Given the description of an element on the screen output the (x, y) to click on. 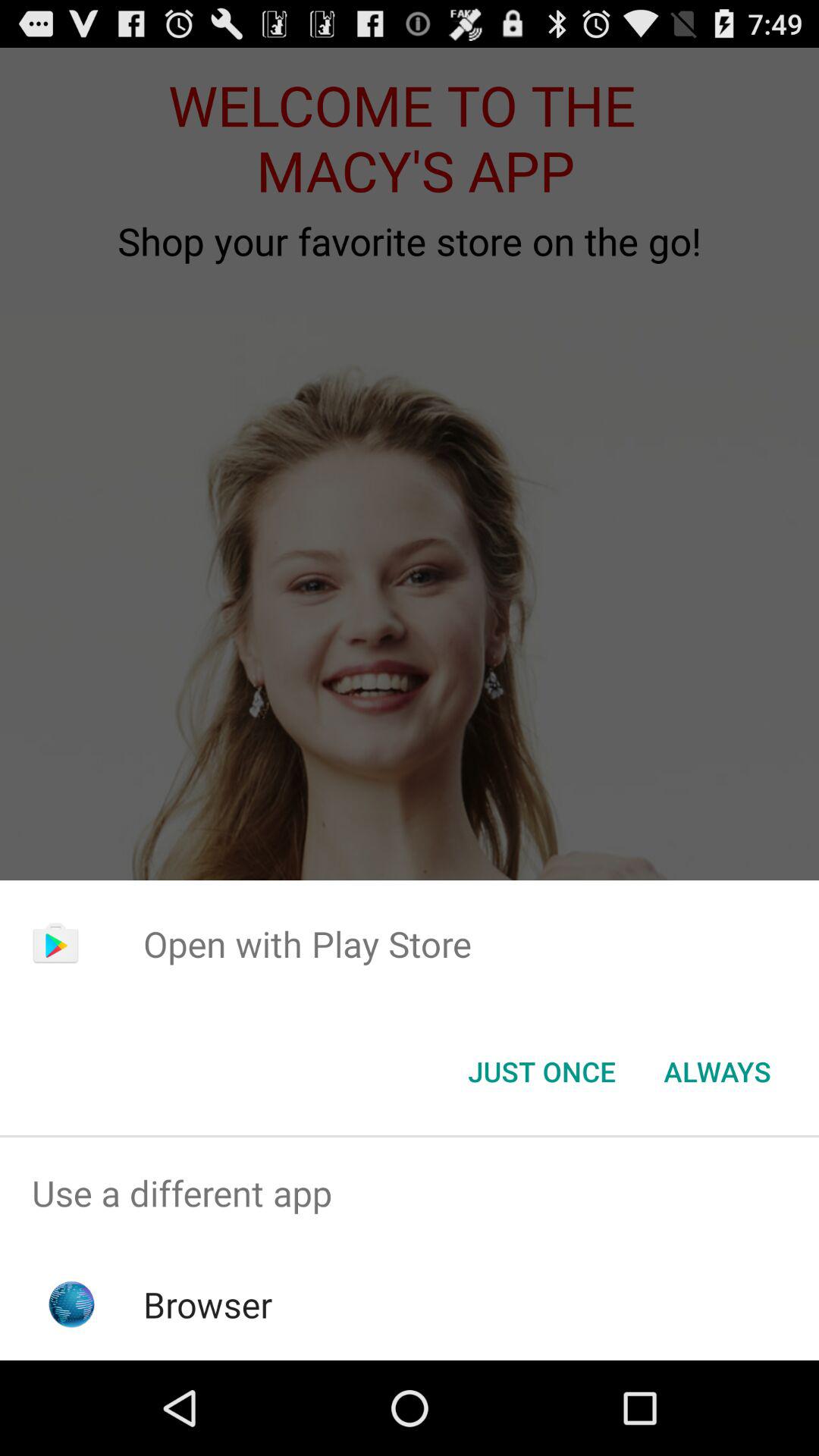
jump to use a different app (409, 1192)
